Given the description of an element on the screen output the (x, y) to click on. 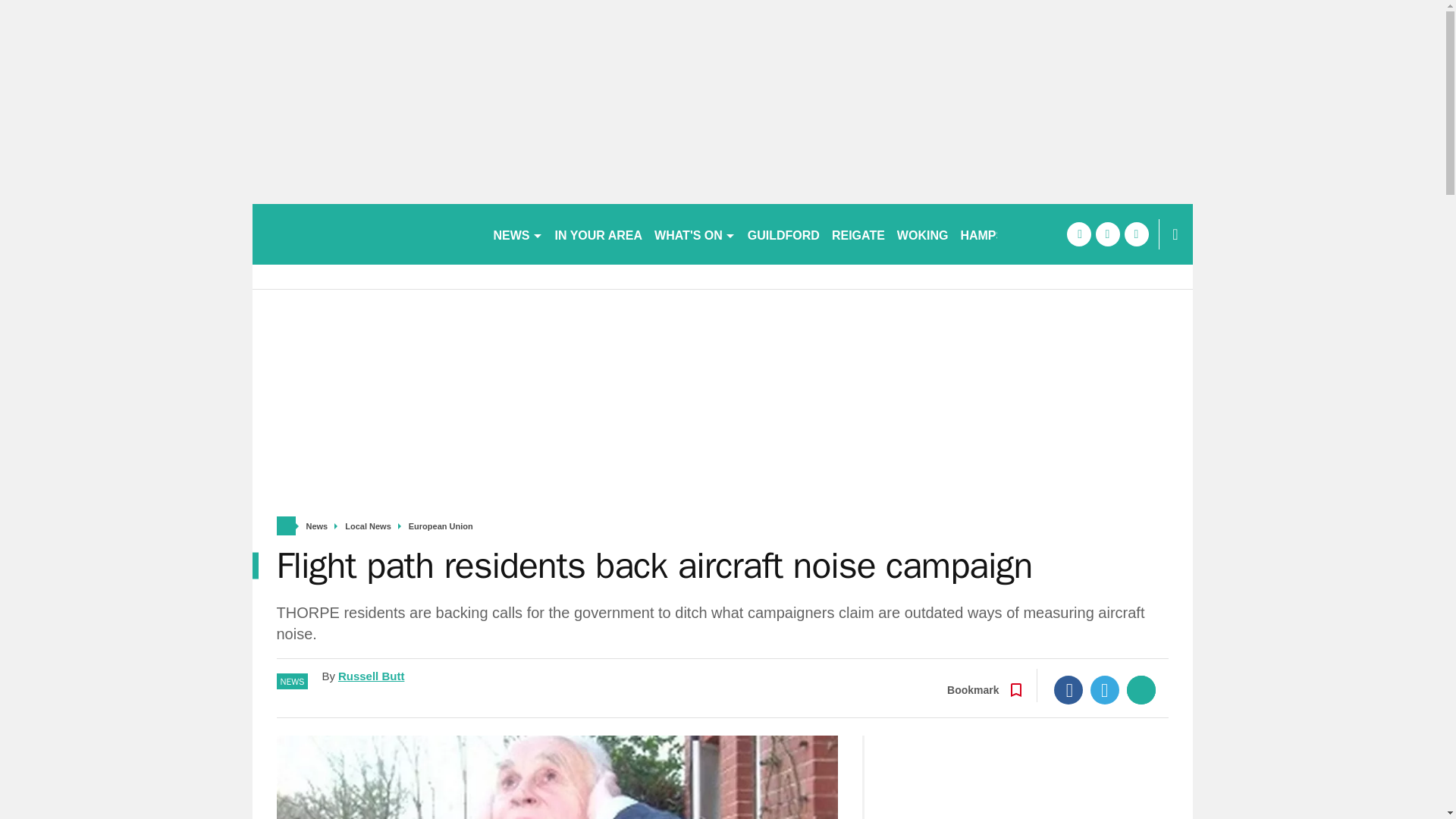
facebook (1077, 233)
WOKING (923, 233)
instagram (1136, 233)
Facebook (1068, 689)
WHAT'S ON (694, 233)
twitter (1106, 233)
IN YOUR AREA (598, 233)
GUILDFORD (783, 233)
getsurrey (365, 233)
Twitter (1104, 689)
